Given the description of an element on the screen output the (x, y) to click on. 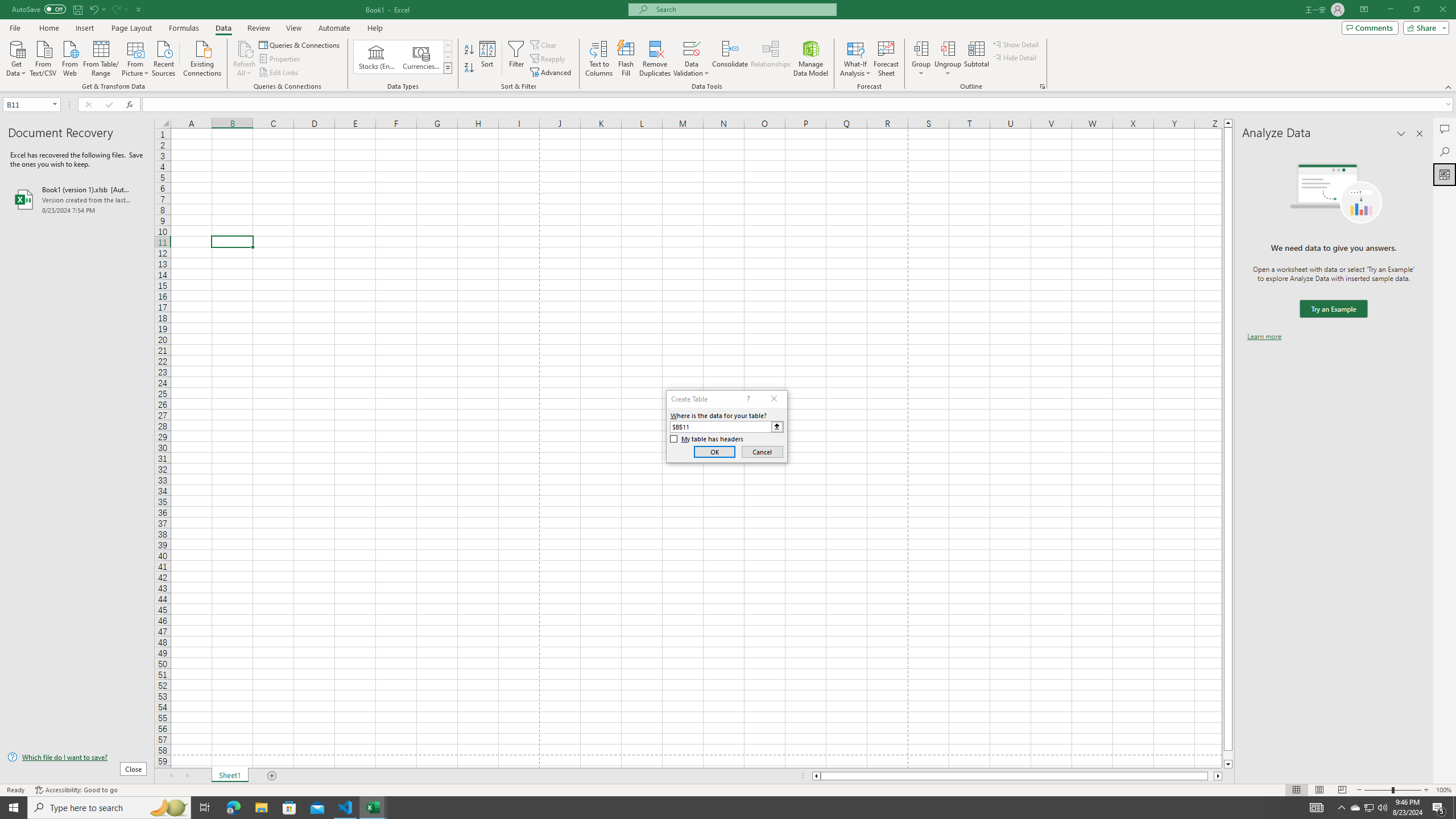
Text to Columns... (598, 58)
From Text/CSV (43, 57)
Refresh All (244, 48)
